Given the description of an element on the screen output the (x, y) to click on. 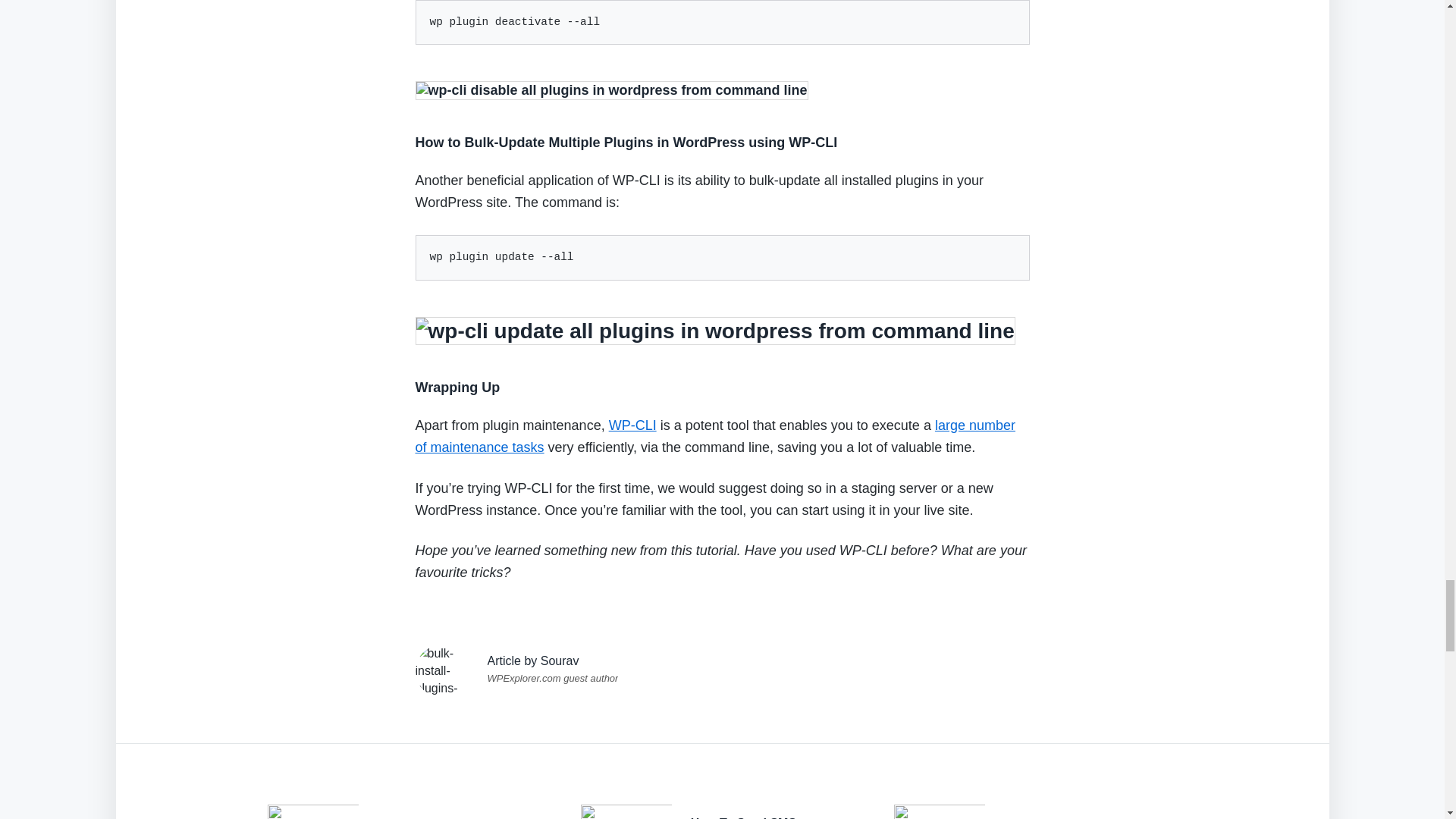
large number of maintenance tasks (714, 436)
WP-CLI (632, 425)
How To Send SMS Notifications from Contact Forms (766, 817)
